Given the description of an element on the screen output the (x, y) to click on. 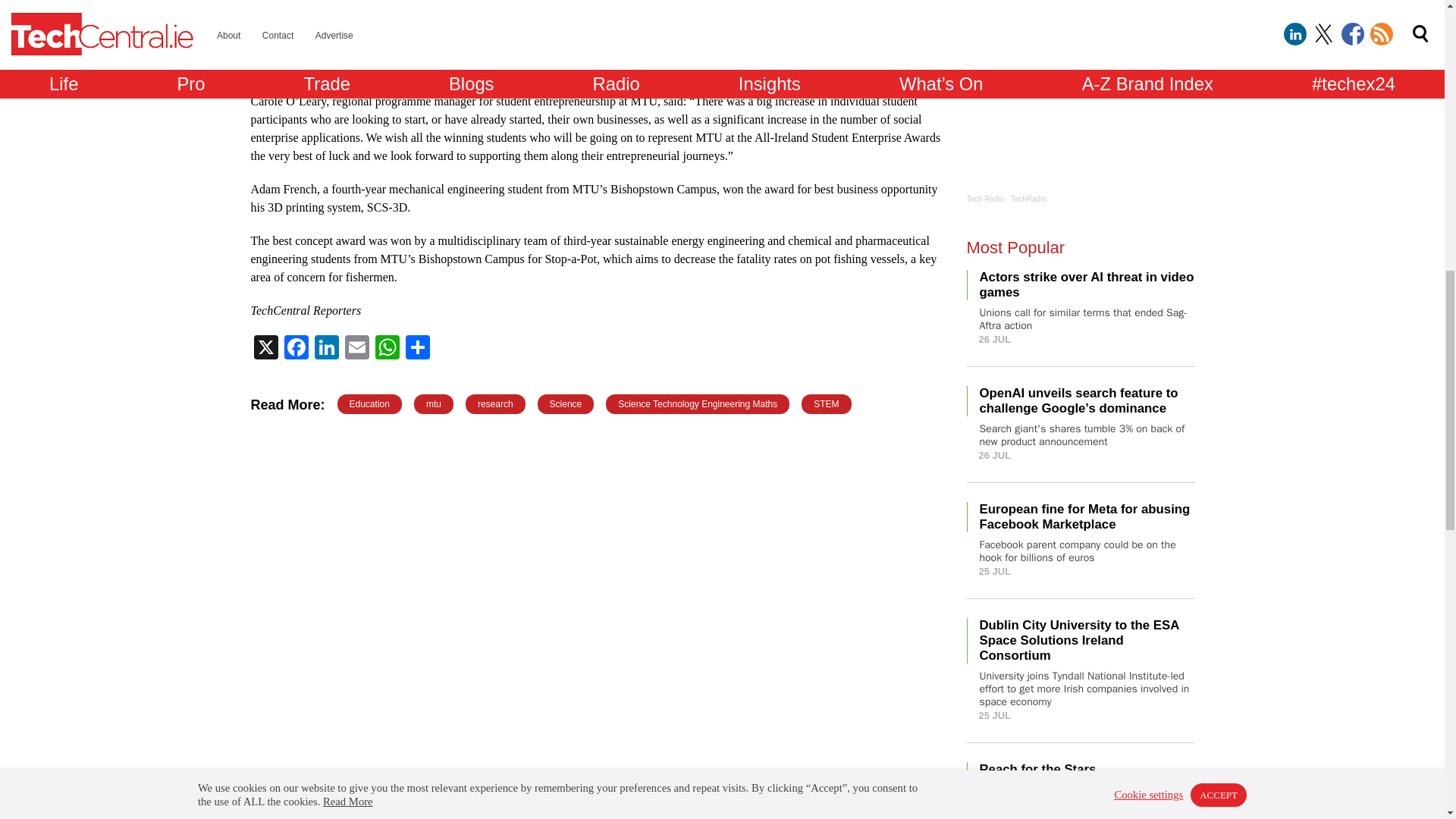
TechRadio (1028, 198)
Tech Radio (985, 198)
